Given the description of an element on the screen output the (x, y) to click on. 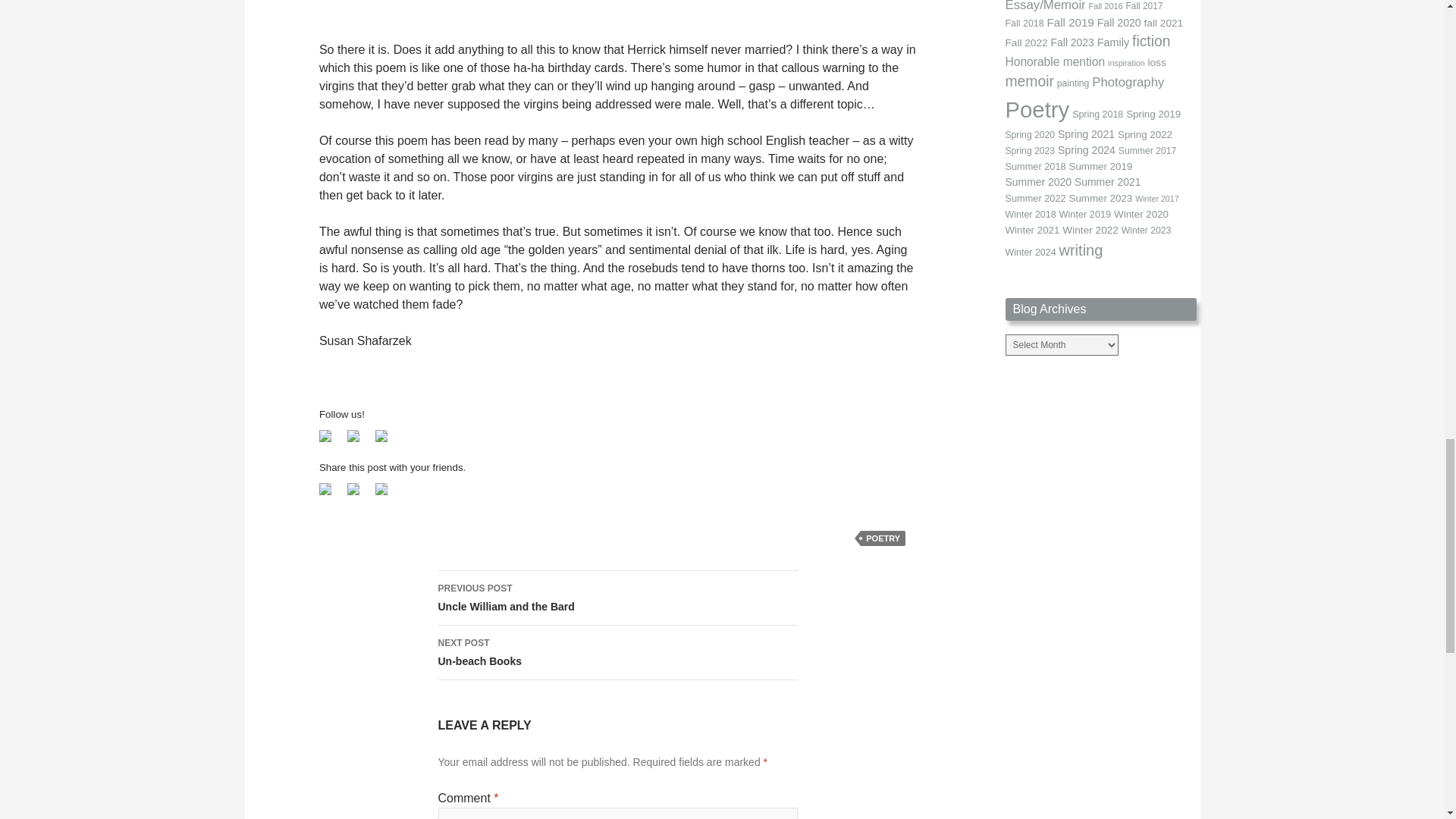
Share on Twitter (359, 494)
Share on Twitter (353, 489)
Check out our instagram feed (386, 441)
Check out our instagram feed (381, 435)
Follow us on Twitter (359, 441)
Follow us on Facebook (324, 435)
Follow us on Facebook (330, 441)
Share on Facebook (330, 494)
Follow us on Twitter (353, 435)
Pin it with Pinterest (386, 494)
Pin it with Pinterest (381, 489)
Share on Facebook (324, 489)
